Given the description of an element on the screen output the (x, y) to click on. 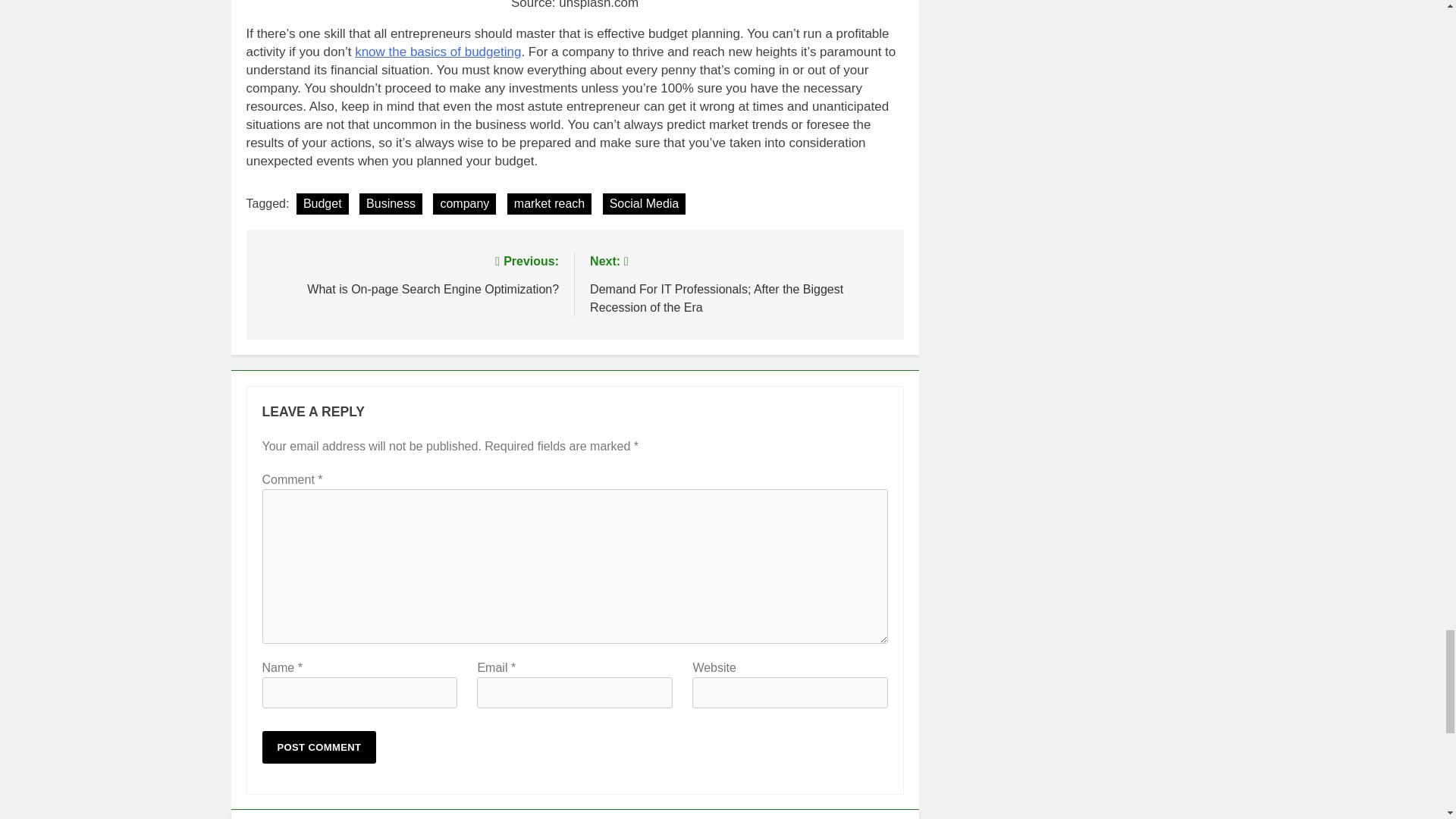
company (464, 203)
Post Comment (319, 747)
know the basics of budgeting (438, 51)
Budget (323, 203)
market reach (409, 273)
Social Media (548, 203)
Business (643, 203)
